Given the description of an element on the screen output the (x, y) to click on. 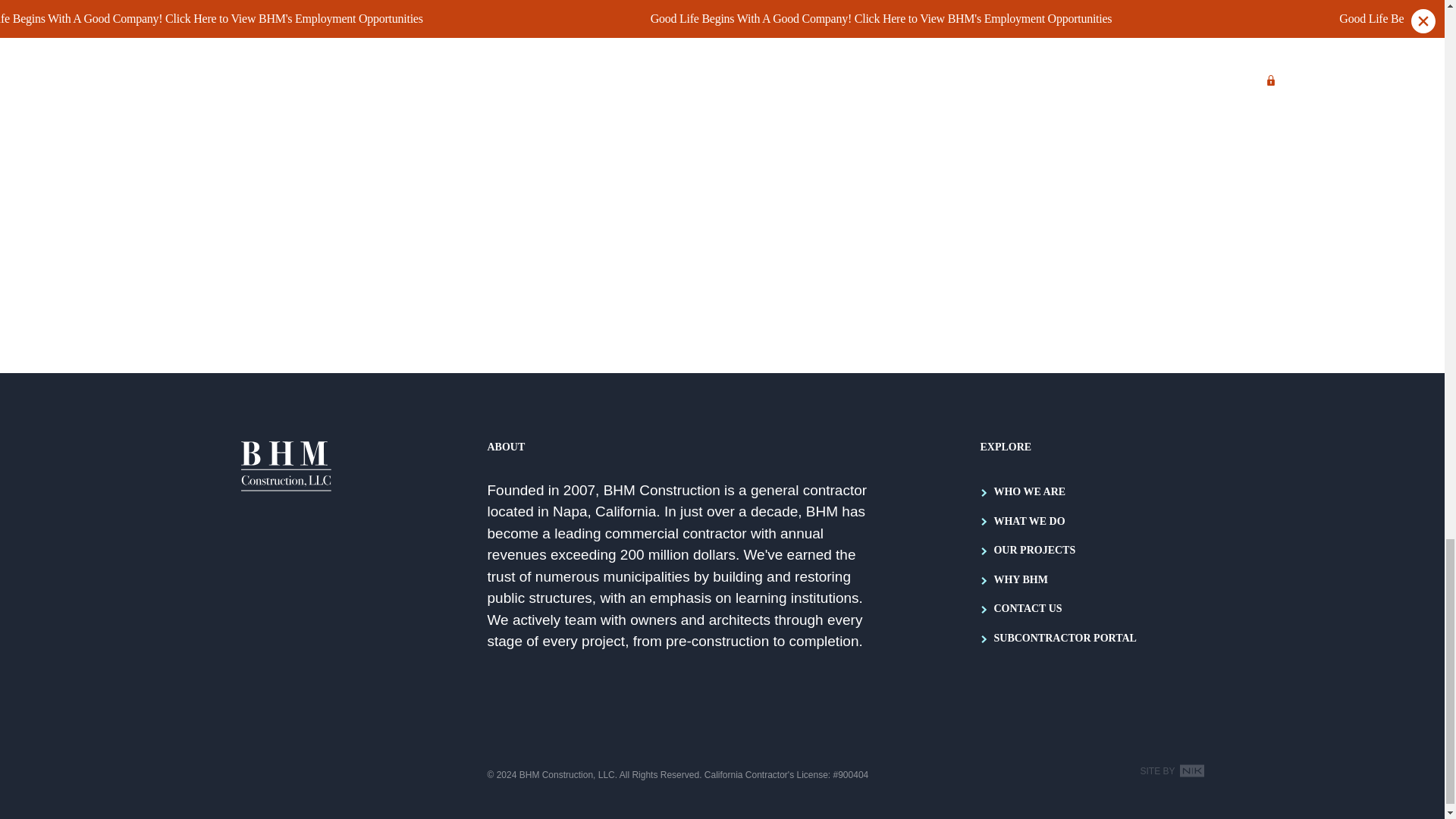
Site by NK Interactive (1172, 771)
